Given the description of an element on the screen output the (x, y) to click on. 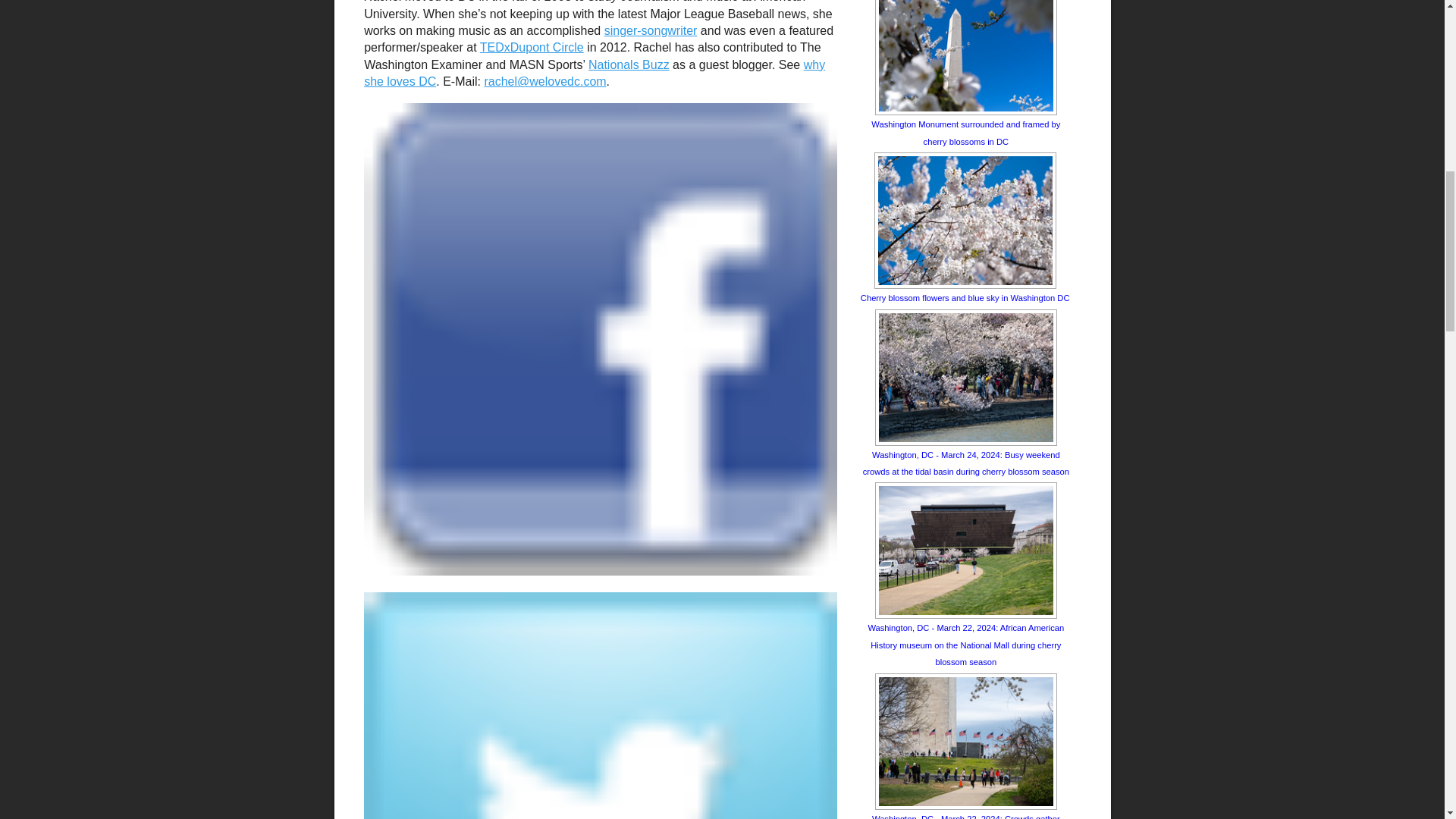
TEDxDupont Circle (531, 47)
singer-songwriter (650, 30)
Nationals Buzz (628, 64)
